Given the description of an element on the screen output the (x, y) to click on. 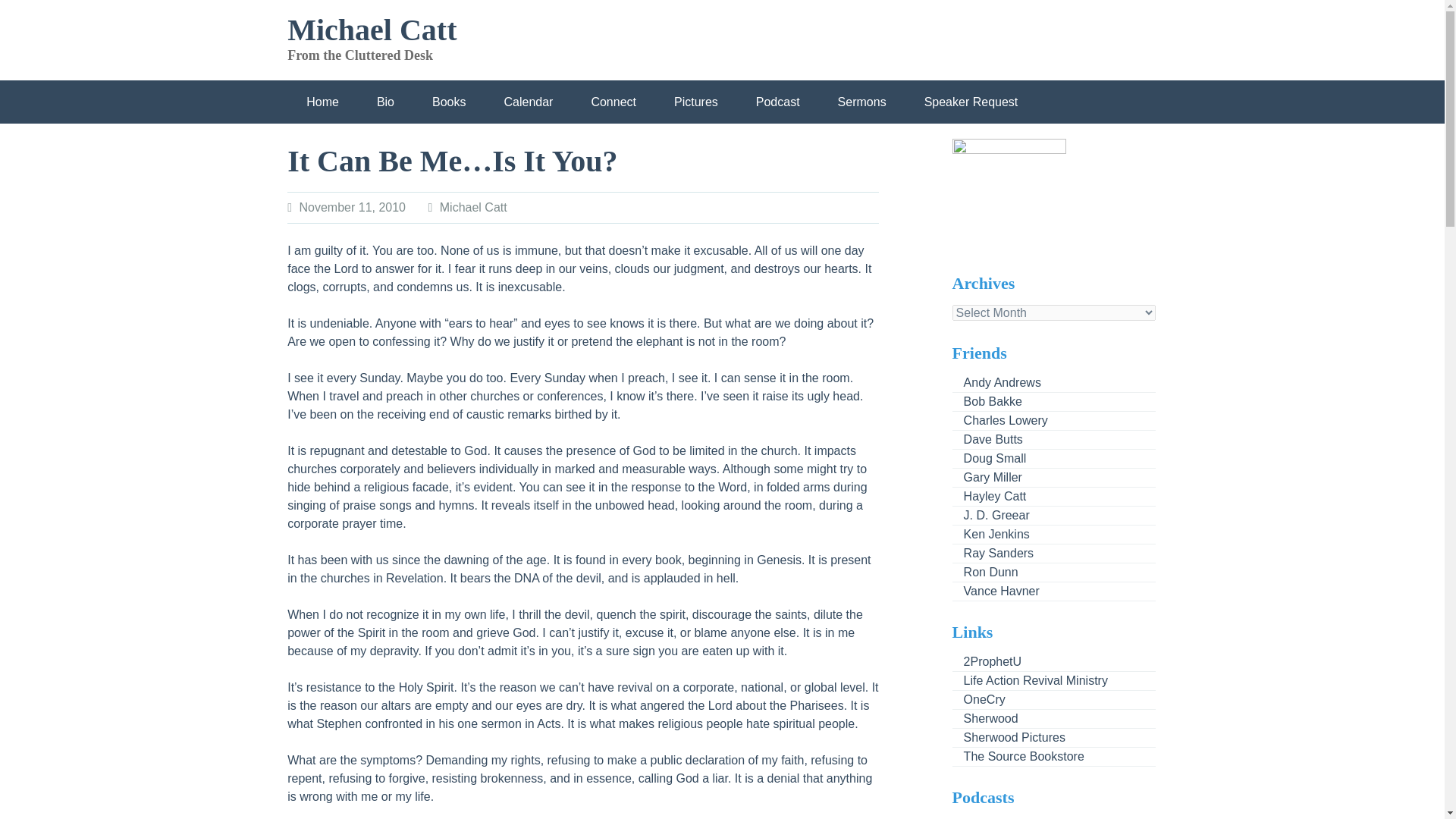
Sermons (861, 101)
J. D. Greear (990, 514)
Michael Catt (371, 29)
Our church website (984, 717)
Podcast (777, 101)
Ray Sanders (992, 553)
Charles Lowery (1000, 420)
Bio (385, 101)
Vance Havner (995, 590)
Home (322, 101)
